Given the description of an element on the screen output the (x, y) to click on. 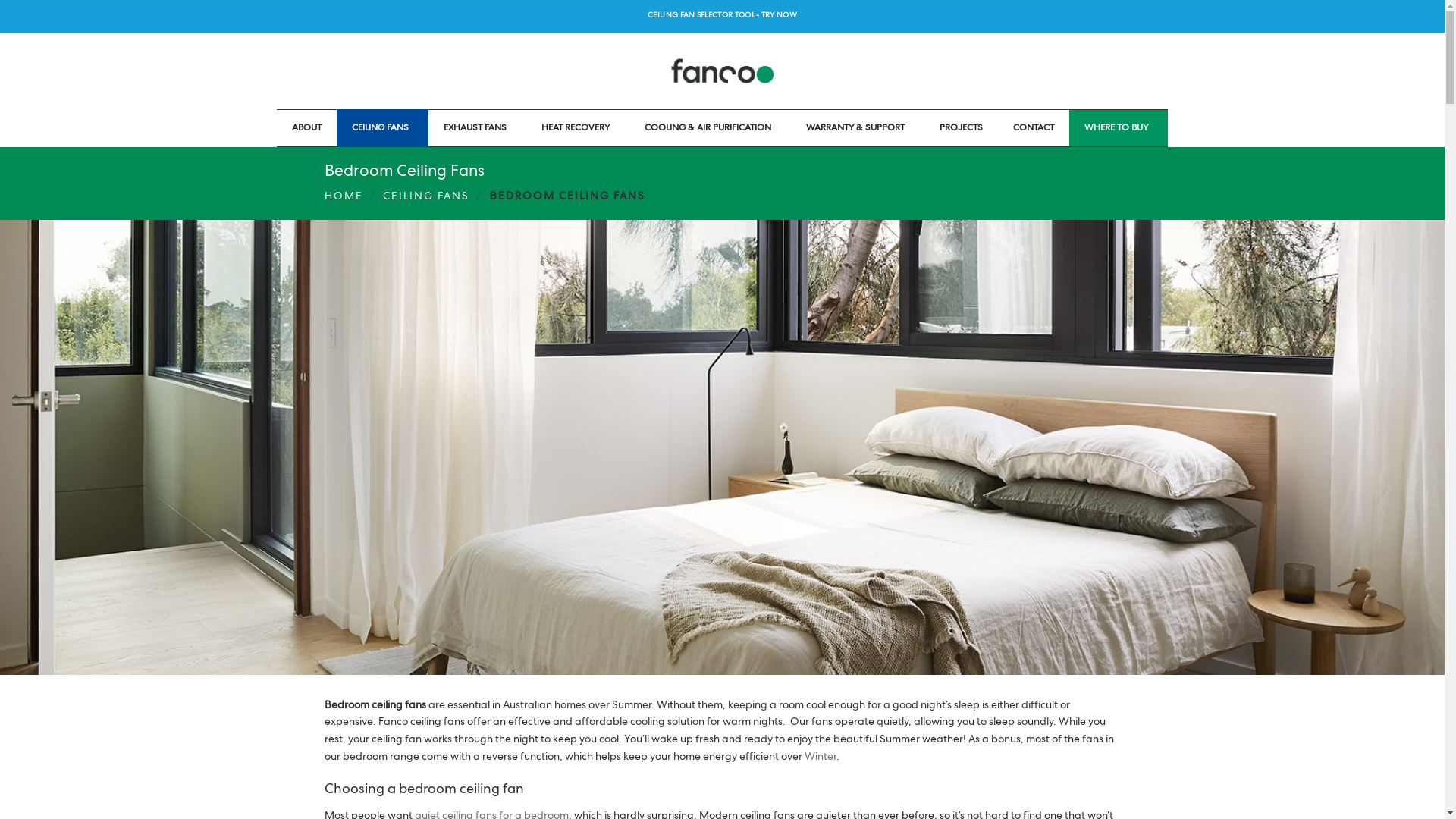
EXHAUST FANS Element type: text (477, 128)
CEILING FANS Element type: text (382, 128)
CEILING FANS Element type: text (425, 196)
Fanco - Distributor of ventilation and cooling products Element type: hover (721, 70)
CEILING FAN SELECTOR TOOL - TRY NOW Element type: text (722, 16)
HOME Element type: text (343, 196)
WARRANTY & SUPPORT Element type: text (857, 128)
Winter Element type: text (819, 757)
ABOUT Element type: text (306, 128)
Skip to content Element type: text (0, 0)
WHERE TO BUY Element type: text (1118, 128)
CONTACT Element type: text (1033, 128)
COOLING & AIR PURIFICATION Element type: text (709, 128)
PROJECTS Element type: text (960, 128)
HEAT RECOVERY Element type: text (577, 128)
